Given the description of an element on the screen output the (x, y) to click on. 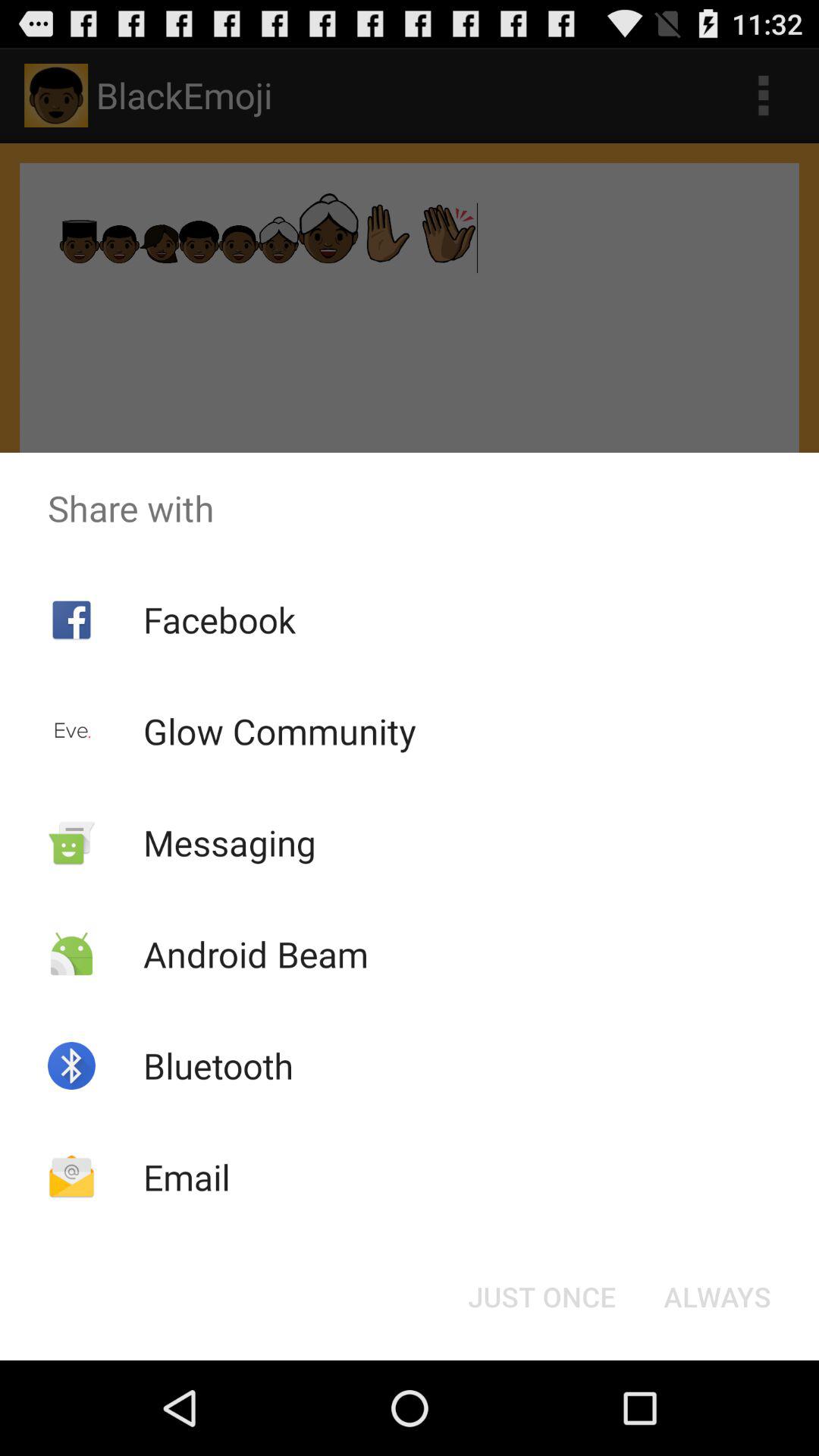
scroll to messaging icon (229, 842)
